Given the description of an element on the screen output the (x, y) to click on. 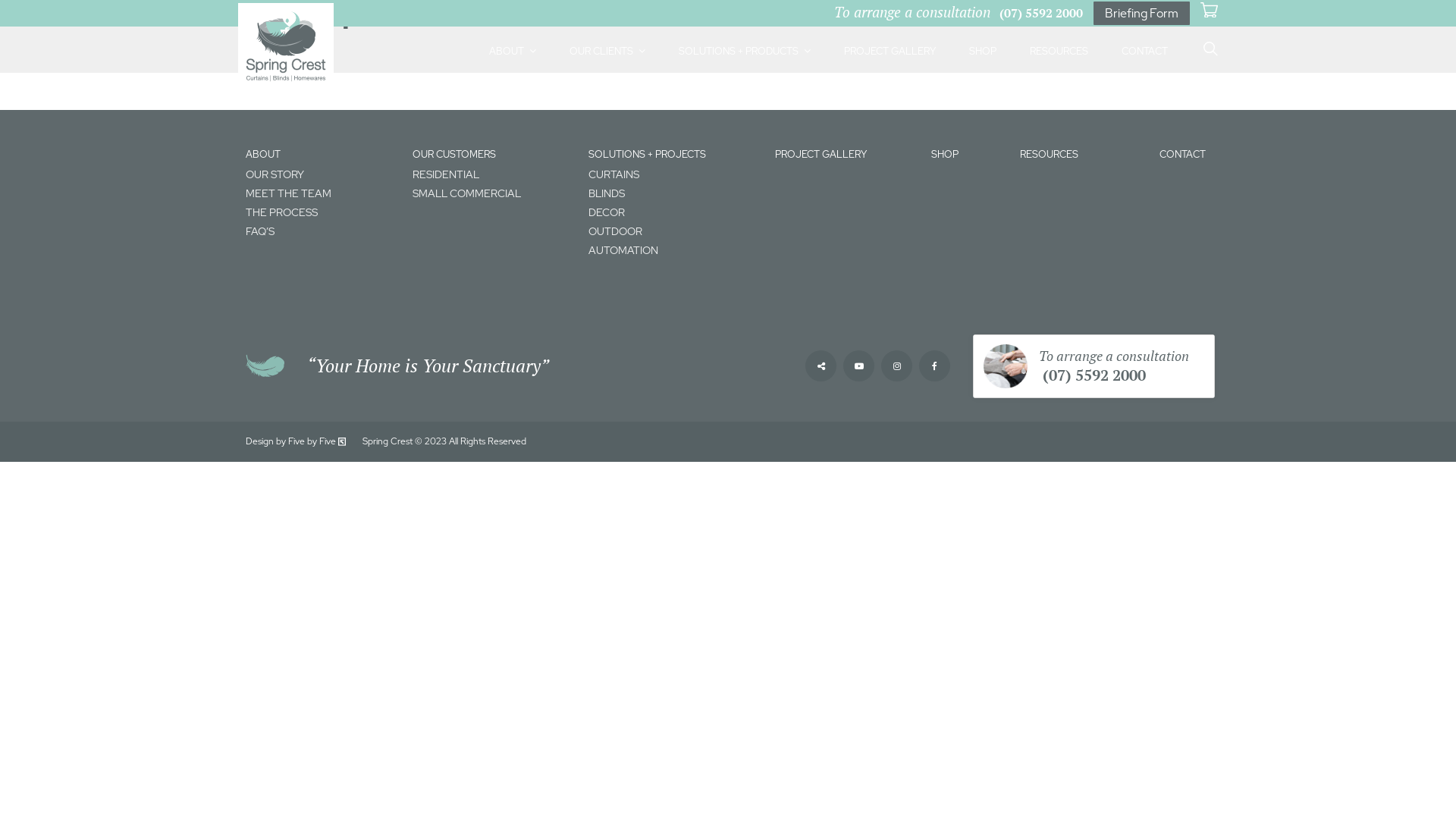
View your shopping cart Element type: hover (1208, 9)
MEET THE TEAM Element type: text (321, 193)
SOLUTIONS + PROJECTS Element type: text (647, 153)
To arrange a consultation (07) 5592 2000 Element type: text (958, 12)
DECOR Element type: text (673, 212)
PROJECT GALLERY Element type: text (820, 153)
PROJECT GALLERY Element type: text (889, 50)
OUR CLIENTS Element type: text (607, 50)
CONTACT Element type: text (1144, 50)
CURTAINS Element type: text (673, 174)
SOLUTIONS + PRODUCTS Element type: text (744, 50)
CONTACT Element type: text (1182, 153)
OUR STORY Element type: text (321, 174)
BLINDS Element type: text (673, 193)
SHOP Element type: text (982, 50)
Design by Five by Five Element type: text (296, 441)
SMALL COMMERCIAL Element type: text (493, 193)
SHOP Element type: text (944, 153)
ABOUT Element type: text (512, 50)
AUTOMATION Element type: text (673, 250)
RESIDENTIAL Element type: text (493, 174)
(07) 5592 2000 Element type: text (1091, 374)
uico-search Element type: text (1208, 49)
Briefing Form Element type: text (1141, 13)
RESOURCES Element type: text (1048, 153)
THE PROCESS Element type: text (321, 212)
RESOURCES Element type: text (1058, 50)
Search Element type: text (1148, 36)
OUTDOOR Element type: text (673, 231)
